Given the description of an element on the screen output the (x, y) to click on. 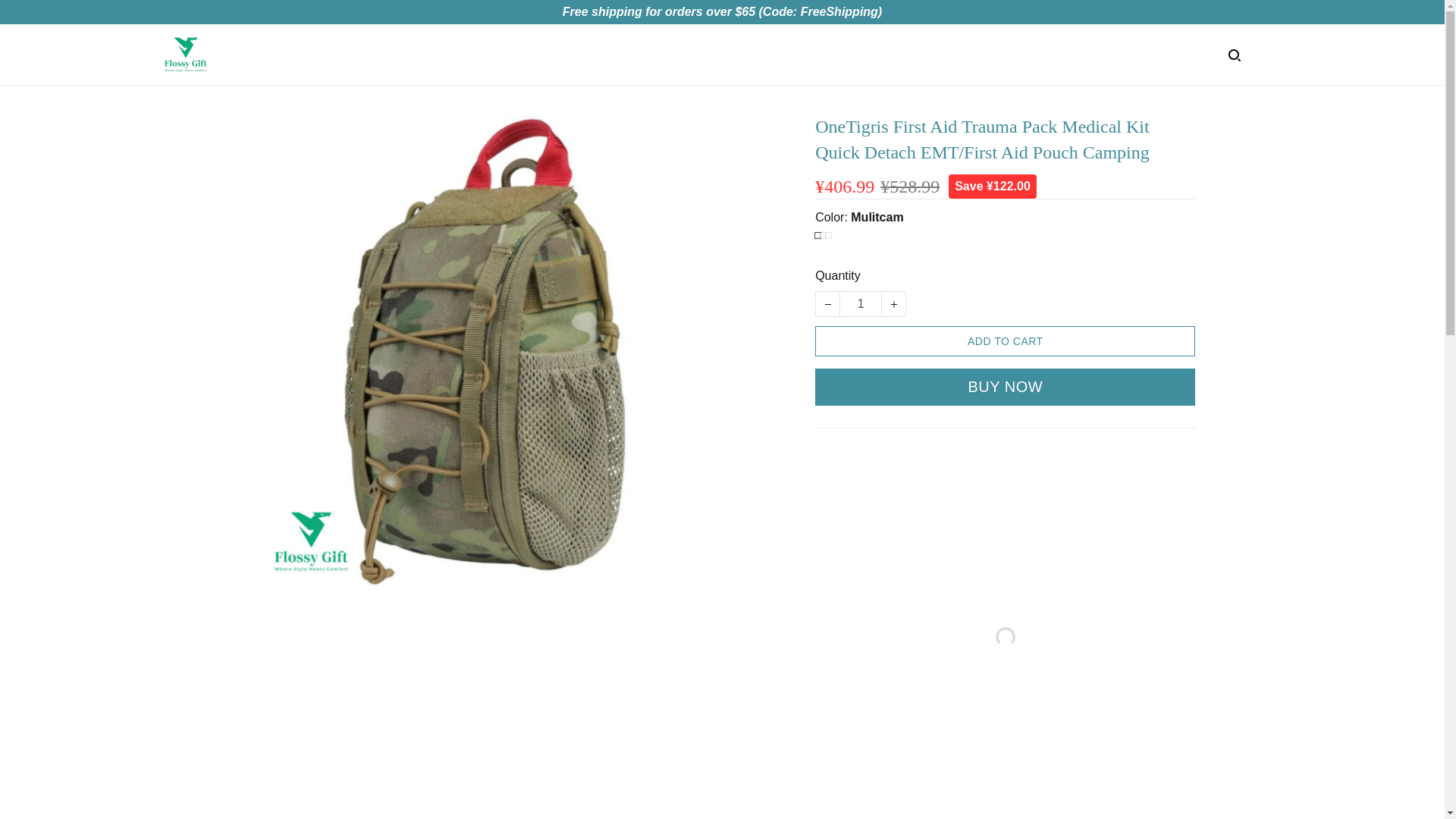
ADD TO CART (1005, 340)
1 (860, 303)
BUY NOW (1005, 386)
